Given the description of an element on the screen output the (x, y) to click on. 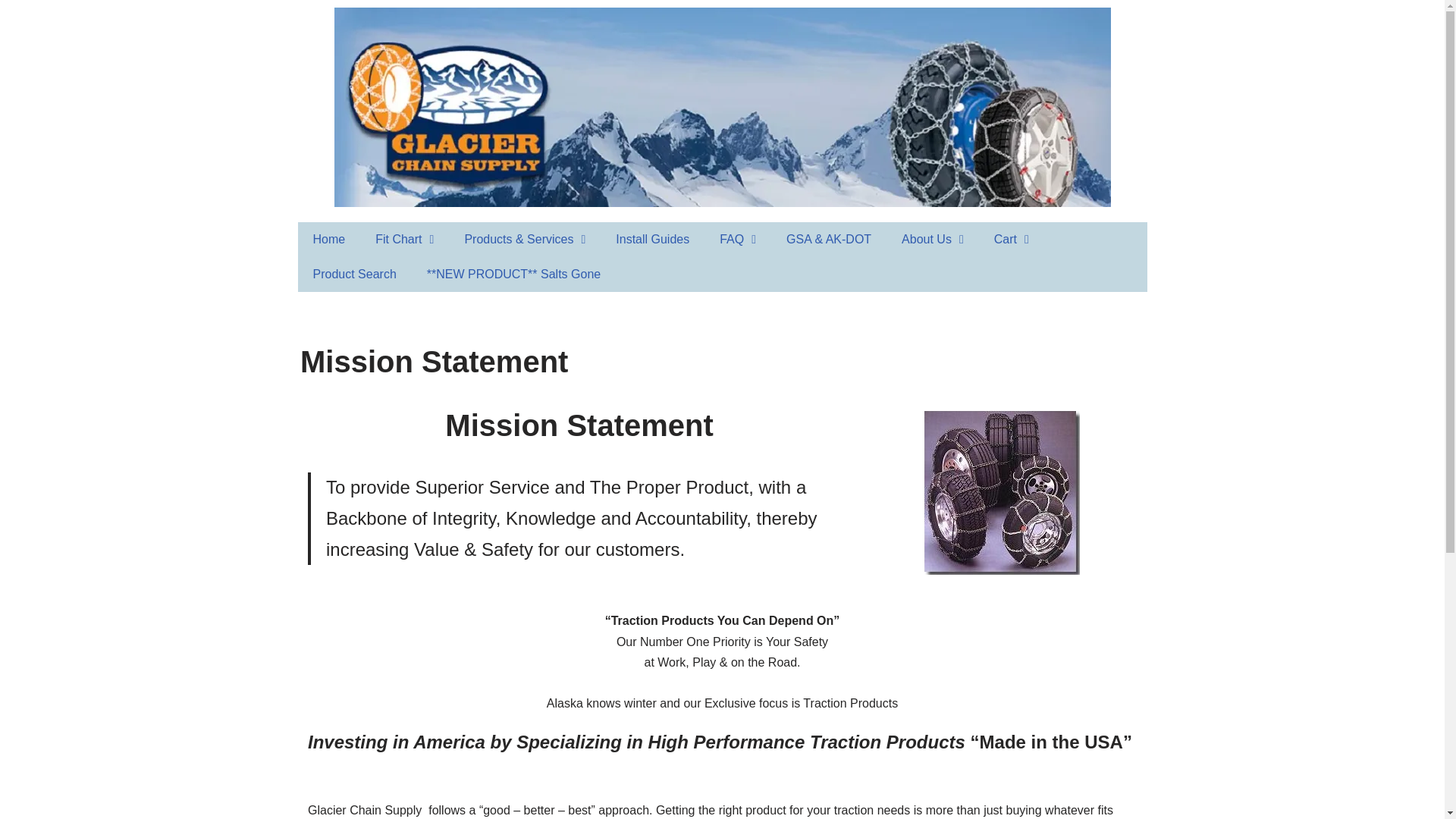
About Us (932, 239)
Fit Chart (403, 239)
Skip to content (11, 31)
Home (328, 239)
Install Guides (651, 239)
FAQ (737, 239)
